Given the description of an element on the screen output the (x, y) to click on. 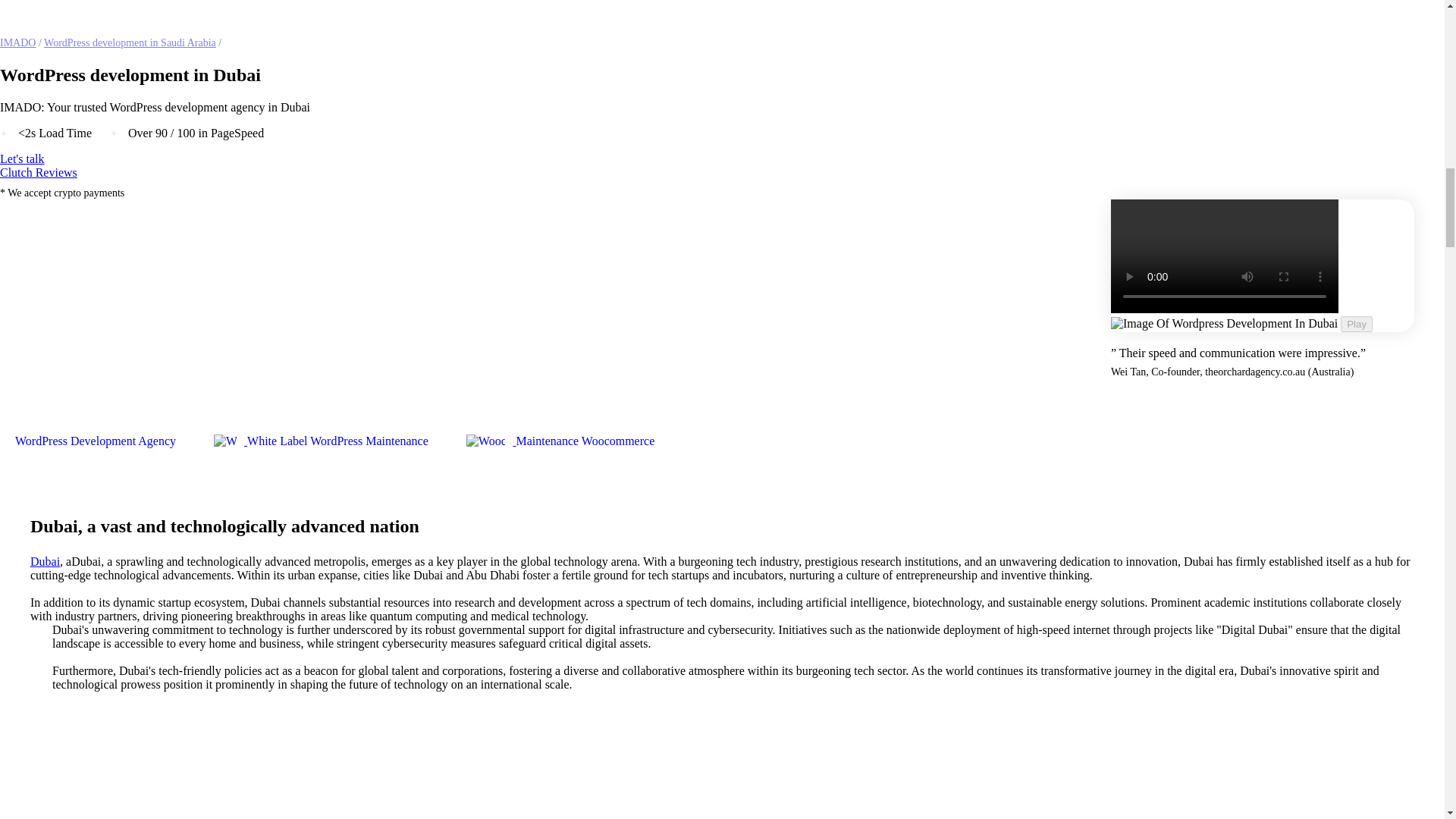
WordPress development in Dubai (224, 445)
WordPress development in Dubai (1224, 323)
WordPress development in Dubai (485, 445)
